Given the description of an element on the screen output the (x, y) to click on. 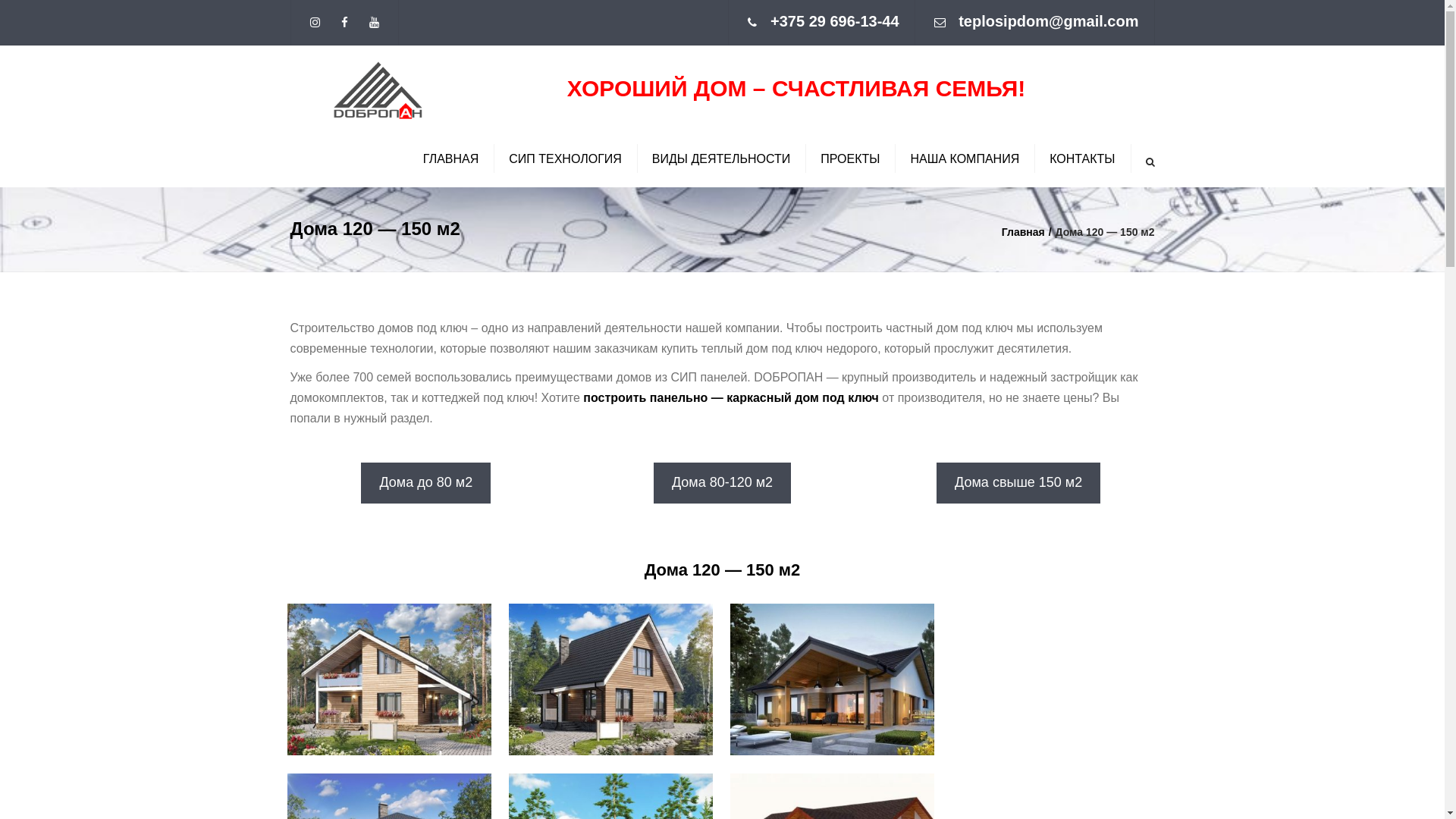
teplosipdom@gmail.com Element type: text (1048, 20)
